Given the description of an element on the screen output the (x, y) to click on. 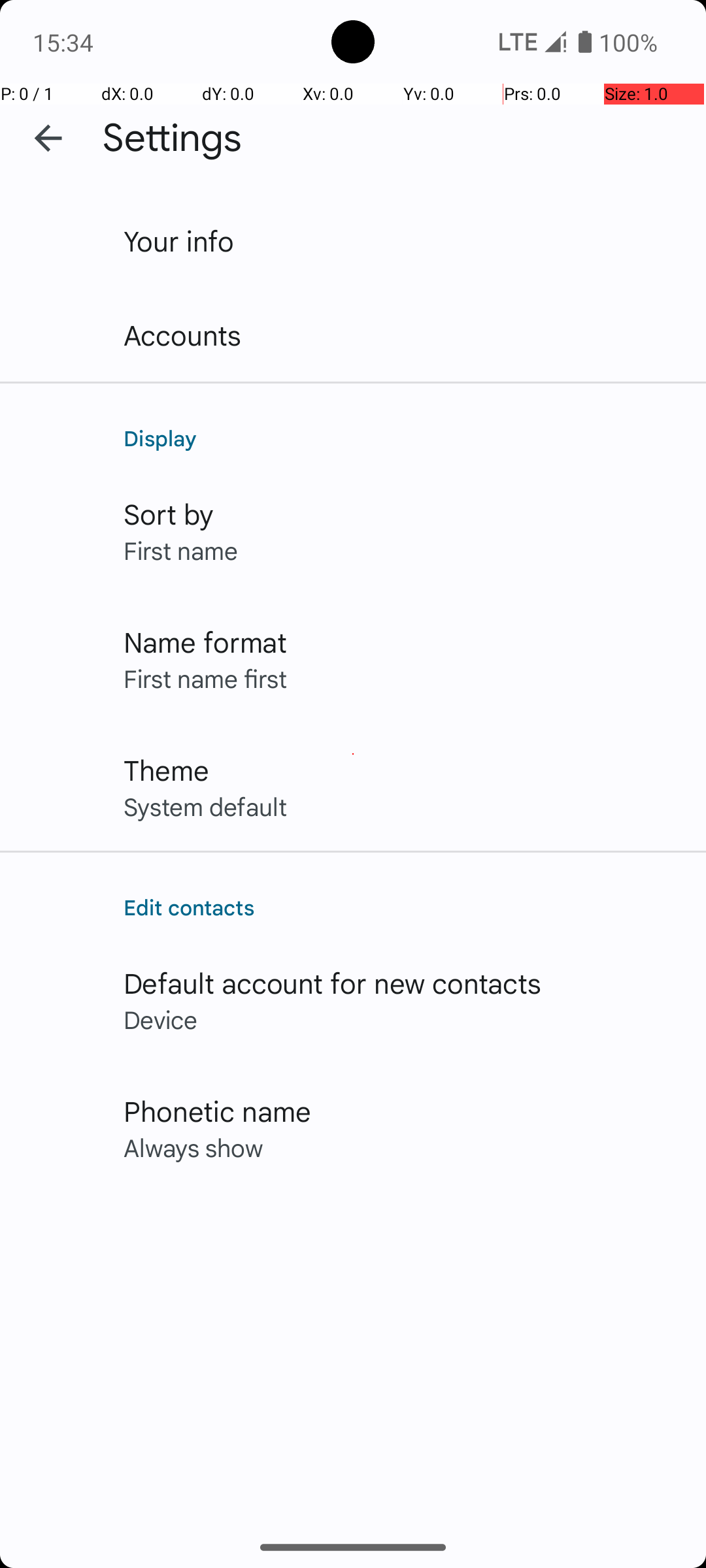
Your info Element type: android.widget.TextView (178, 240)
Accounts Element type: android.widget.TextView (182, 334)
Display Element type: android.widget.TextView (400, 437)
Name format Element type: android.widget.TextView (205, 641)
First name first Element type: android.widget.TextView (204, 678)
Edit contacts Element type: android.widget.TextView (400, 906)
Default account for new contacts Element type: android.widget.TextView (332, 982)
Phonetic name Element type: android.widget.TextView (217, 1110)
Always show Element type: android.widget.TextView (192, 1147)
